Given the description of an element on the screen output the (x, y) to click on. 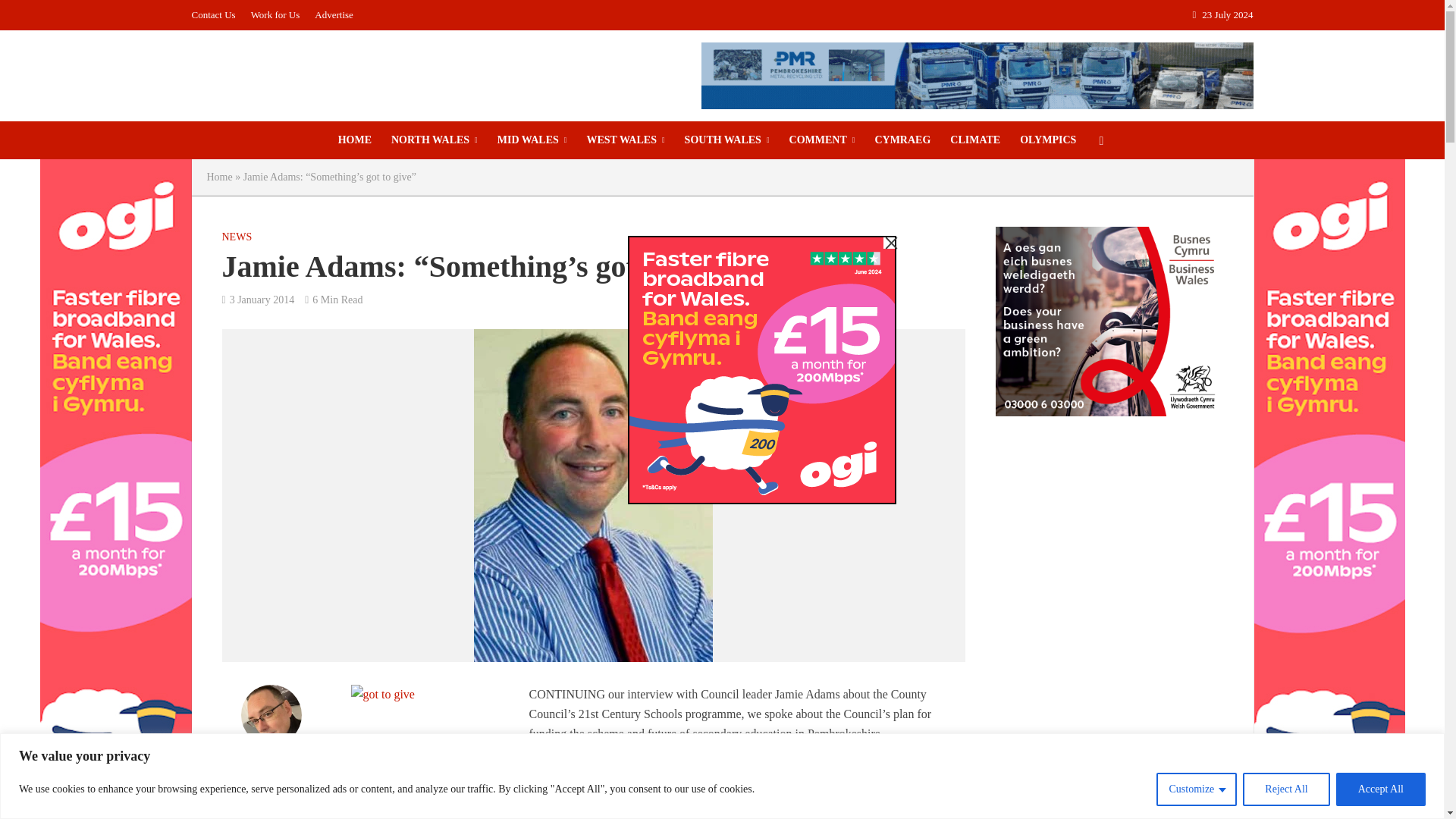
Advertise (334, 15)
Customize (1196, 788)
MID WALES (531, 139)
Reject All (1286, 788)
Work for Us (275, 15)
SOUTH WALES (726, 139)
WEST WALES (625, 139)
Contact Us (216, 15)
NORTH WALES (434, 139)
HOME (355, 139)
Accept All (1380, 788)
